Given the description of an element on the screen output the (x, y) to click on. 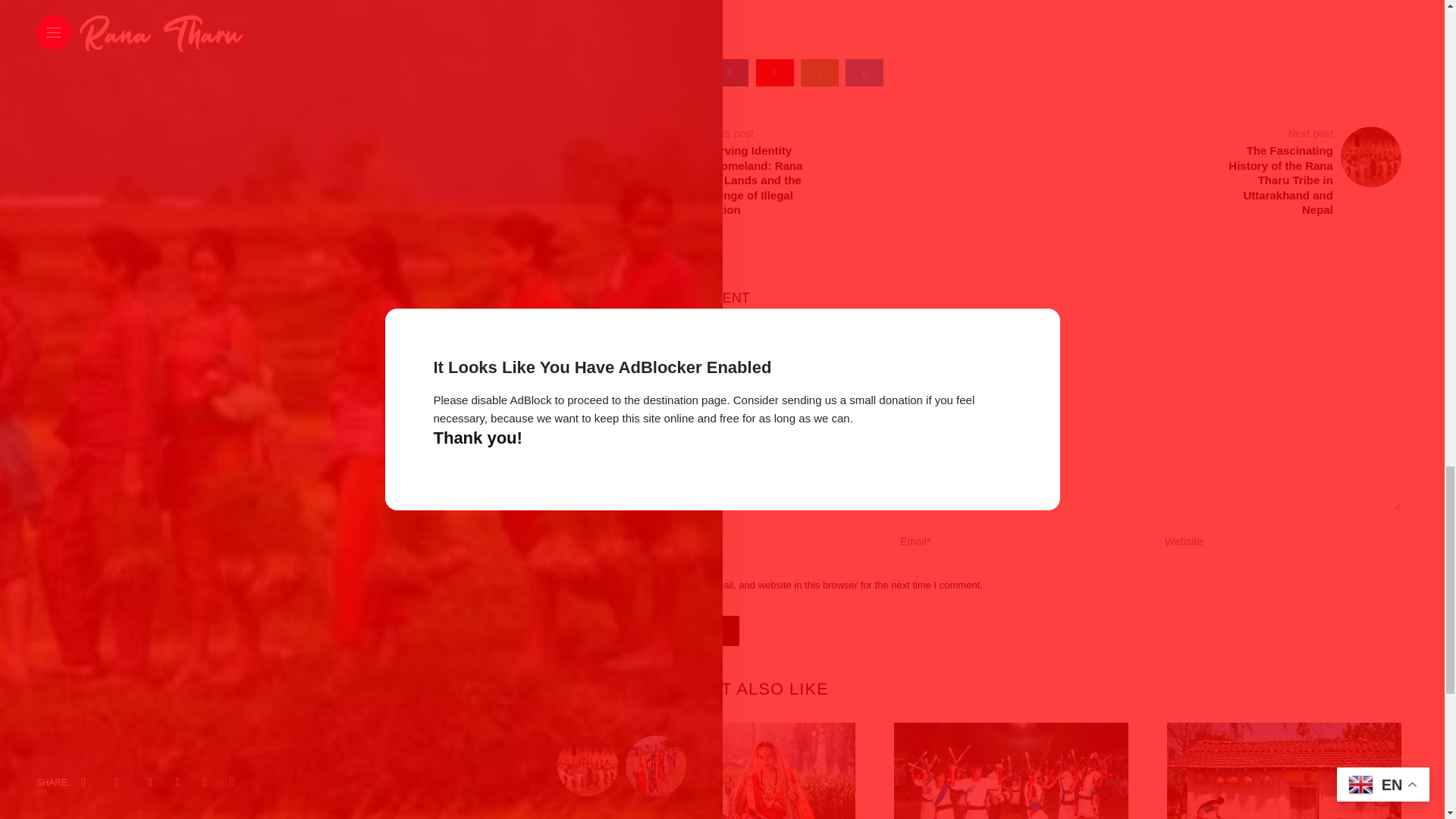
facebook (640, 72)
yes (627, 585)
Post Comment (680, 631)
